Given the description of an element on the screen output the (x, y) to click on. 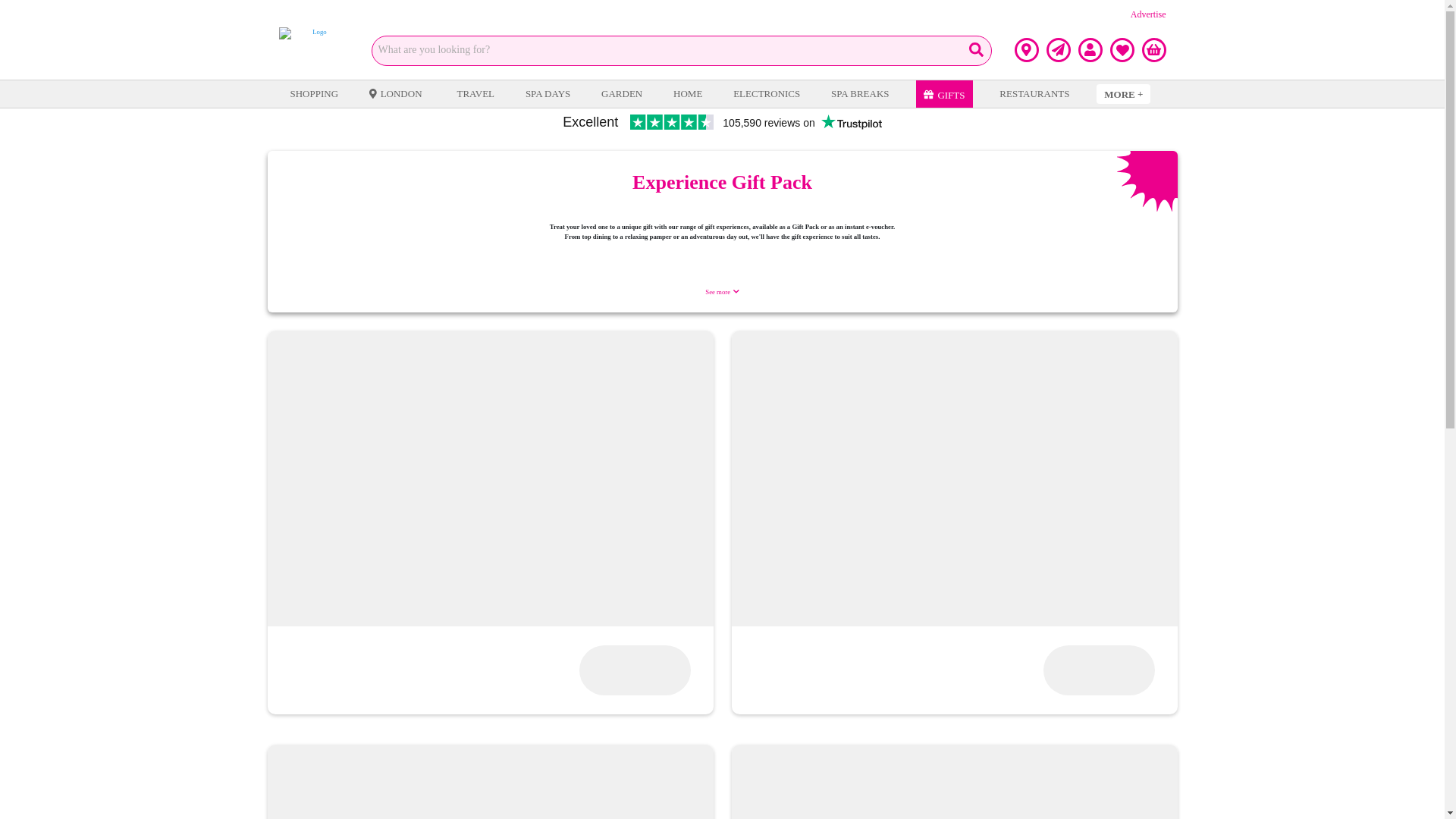
SPA BREAKS (859, 93)
Change location (1026, 49)
SPA DAYS (547, 93)
Login (1090, 49)
ELECTRONICS (766, 93)
HOME (687, 93)
TRAVEL (474, 93)
Wishlist (1121, 49)
GARDEN (621, 93)
Subscribe to our Newsletter (1058, 49)
